Given the description of an element on the screen output the (x, y) to click on. 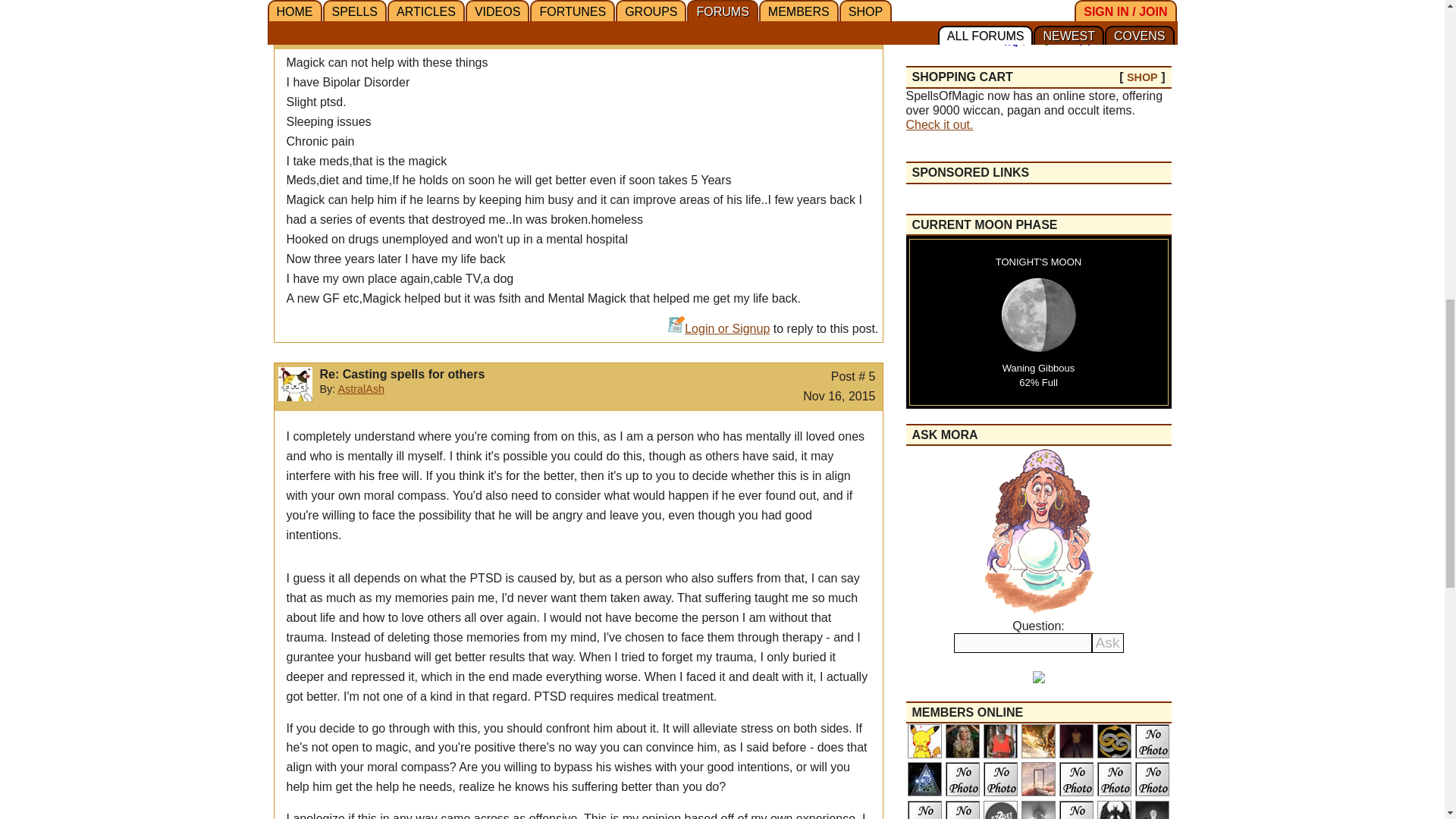
Ask (1108, 642)
